Given the description of an element on the screen output the (x, y) to click on. 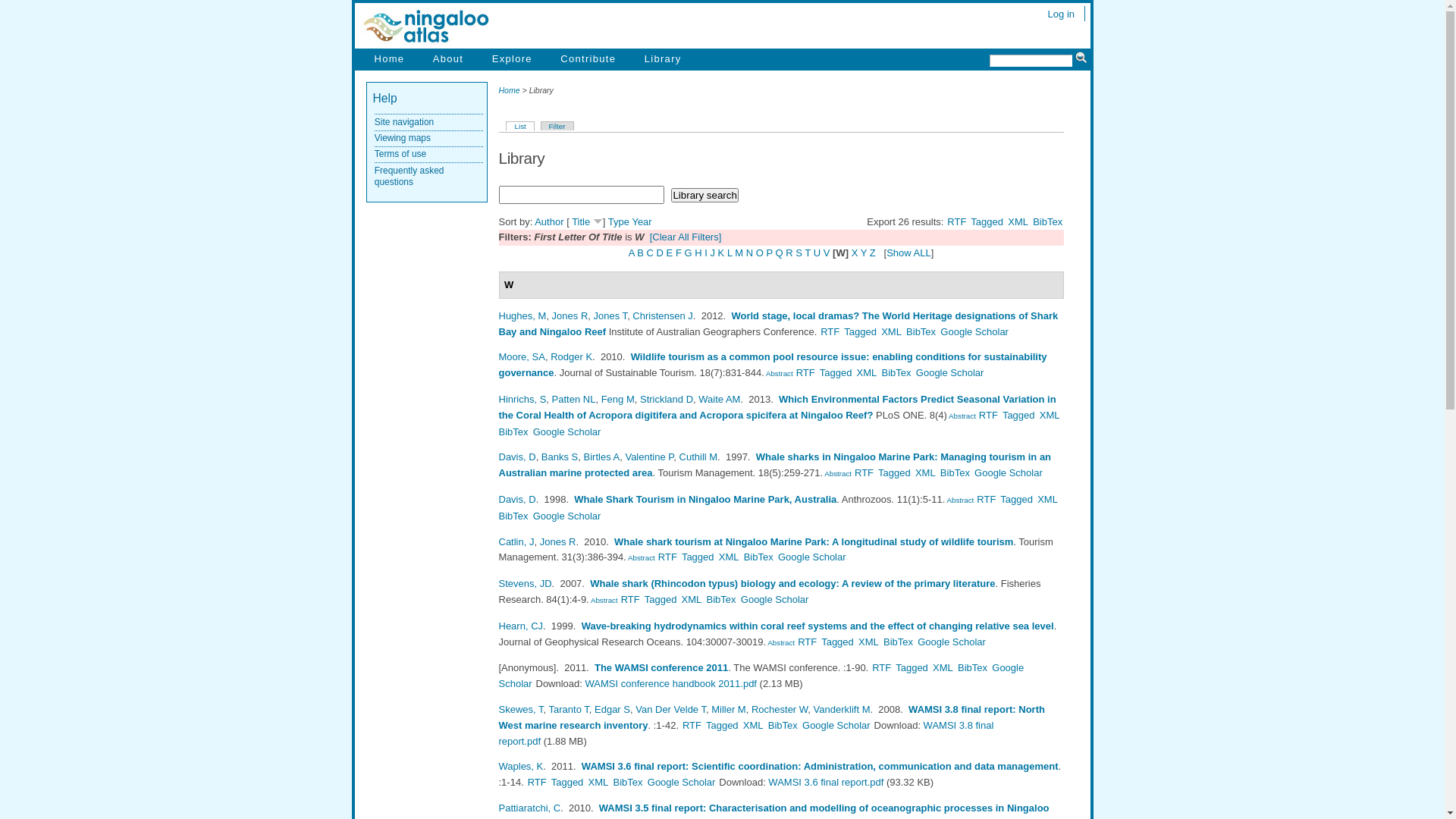
BibTex Element type: text (1047, 221)
XML Element type: text (942, 667)
Cuthill M Element type: text (698, 456)
Birtles A Element type: text (601, 456)
S Element type: text (798, 252)
Jones T Element type: text (610, 315)
Type Element type: text (618, 221)
Tagged Element type: text (860, 331)
U Element type: text (816, 252)
Frequently asked questions Element type: text (409, 176)
Vanderklift M Element type: text (841, 709)
I Element type: text (705, 252)
Banks S Element type: text (559, 456)
Edgar S Element type: text (612, 709)
Z Element type: text (872, 252)
Abstract Element type: text (603, 600)
Skewes, T Element type: text (520, 709)
Whale Shark Tourism in Ningaloo Marine Park, Australia Element type: text (705, 499)
Tagged Element type: text (835, 372)
Catlin, J Element type: text (516, 541)
RTF Element type: text (805, 372)
XML Element type: text (866, 372)
Library search Element type: text (704, 195)
Q Element type: text (779, 252)
Rochester W Element type: text (779, 709)
Abstract Element type: text (778, 373)
XML Element type: text (891, 331)
Filter Element type: text (557, 125)
RTF Element type: text (806, 641)
Hinrichs, S Element type: text (522, 398)
Abstract Element type: text (961, 415)
Google Scholar Element type: text (1008, 472)
Feng M Element type: text (617, 398)
Google Scholar Element type: text (974, 331)
Tagged Element type: text (697, 556)
Tagged Element type: text (722, 725)
Rodger K Element type: text (571, 356)
Google Scholar Element type: text (567, 431)
BibTex Element type: text (513, 431)
B Element type: text (640, 252)
Christensen J Element type: text (662, 315)
Davis, D Element type: text (517, 456)
H Element type: text (697, 252)
Home Element type: text (509, 89)
XML Element type: text (598, 781)
The WAMSI conference 2011 Element type: text (661, 667)
J Element type: text (712, 252)
V Element type: text (826, 252)
Viewing maps Element type: text (402, 137)
XML Element type: text (1049, 414)
M Element type: text (738, 252)
XML Element type: text (728, 556)
WAMSI 3.8 final report.pdf Element type: text (746, 732)
[Clear All Filters] Element type: text (685, 236)
List Element type: text (519, 126)
Google Scholar Element type: text (950, 372)
Title Element type: text (580, 221)
BibTex Element type: text (628, 781)
Strickland D Element type: text (666, 398)
Show ALL Element type: text (908, 252)
Library Element type: text (662, 58)
Jones R Element type: text (557, 541)
Tagged Element type: text (1018, 414)
BibTex Element type: text (920, 331)
Abstract Element type: text (958, 499)
A Element type: text (631, 252)
T Element type: text (807, 252)
P Element type: text (769, 252)
RTF Element type: text (829, 331)
Abstract Element type: text (836, 473)
XML Element type: text (868, 641)
Hearn, CJ Element type: text (520, 625)
Terms of use Element type: text (400, 153)
About Element type: text (448, 58)
Miller M Element type: text (728, 709)
BibTex Element type: text (721, 599)
WAMSI conference handbook 2011.pdf Element type: text (670, 683)
BibTex Element type: text (972, 667)
Pattiaratchi, C Element type: text (529, 807)
Abstract Element type: text (779, 642)
Waite AM Element type: text (719, 398)
Author Element type: text (548, 221)
RTF Element type: text (988, 414)
RTF Element type: text (667, 556)
Tagged Element type: text (837, 641)
Tagged Element type: text (567, 781)
RTF Element type: text (863, 472)
Site navigation Element type: text (403, 121)
Contribute Element type: text (587, 58)
Year Element type: text (641, 221)
Explore Element type: text (512, 58)
RTF Element type: text (630, 599)
F Element type: text (678, 252)
Y Element type: text (863, 252)
WAMSI 3.6 final report.pdf Element type: text (825, 781)
RTF Element type: text (956, 221)
Tagged Element type: text (894, 472)
N Element type: text (749, 252)
XML Element type: text (925, 472)
BibTex Element type: text (513, 515)
Google Scholar Element type: text (951, 641)
G Element type: text (687, 252)
BibTex Element type: text (898, 641)
Hughes, M Element type: text (522, 315)
Abstract Element type: text (640, 557)
Google Scholar Element type: text (681, 781)
Tagged Element type: text (911, 667)
Google Scholar Element type: text (774, 599)
BibTex Element type: text (954, 472)
Waples, K Element type: text (520, 765)
L Element type: text (729, 252)
XML Element type: text (753, 725)
Stevens, JD Element type: text (525, 583)
Tagged Element type: text (986, 221)
Davis, D Element type: text (517, 499)
BibTex Element type: text (758, 556)
Home Element type: text (389, 58)
RTF Element type: text (536, 781)
Tagged Element type: text (1016, 499)
R Element type: text (788, 252)
O Element type: text (759, 252)
BibTex Element type: text (782, 725)
BibTex Element type: text (896, 372)
XML Element type: text (1047, 499)
RTF Element type: text (985, 499)
D Element type: text (659, 252)
Google Scholar Element type: text (836, 725)
XML Element type: text (691, 599)
RTF Element type: text (691, 725)
K Element type: text (721, 252)
Tagged Element type: text (660, 599)
Patten NL Element type: text (574, 398)
WAMSI 3.8 final report: North West marine research inventory Element type: text (771, 717)
E Element type: text (669, 252)
Jones R Element type: text (570, 315)
C Element type: text (649, 252)
Valentine P Element type: text (648, 456)
Enter the terms you wish to search for. Element type: hover (1030, 60)
Google Scholar Element type: text (761, 675)
Log in Element type: text (1061, 12)
X Element type: text (854, 252)
Taranto T Element type: text (569, 709)
Google Scholar Element type: text (567, 515)
Van Der Velde T Element type: text (670, 709)
XML Element type: text (1017, 221)
Google Scholar Element type: text (812, 556)
RTF Element type: text (881, 667)
Moore, SA Element type: text (521, 356)
